Given the description of an element on the screen output the (x, y) to click on. 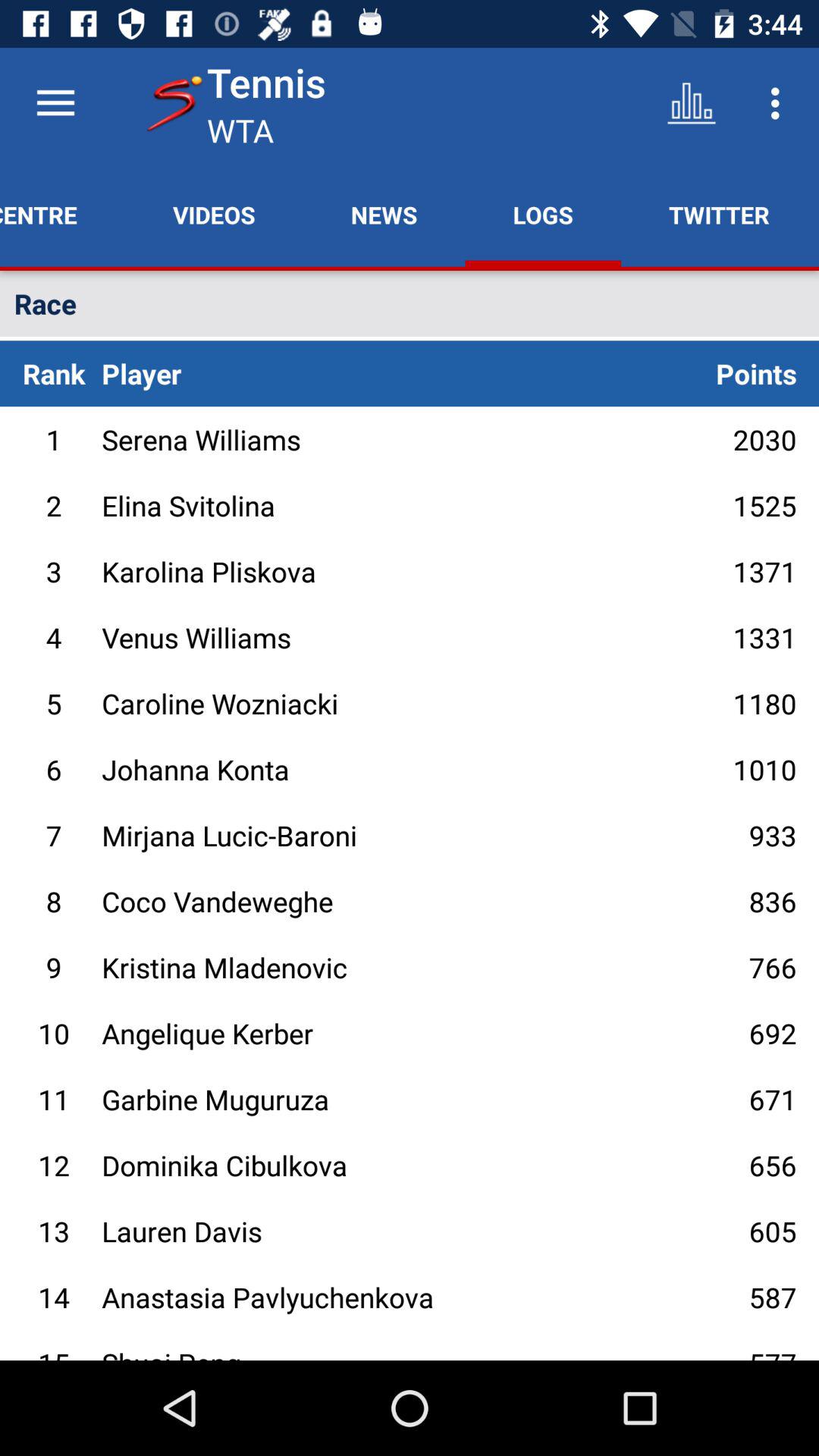
go to dashboard (55, 103)
